Given the description of an element on the screen output the (x, y) to click on. 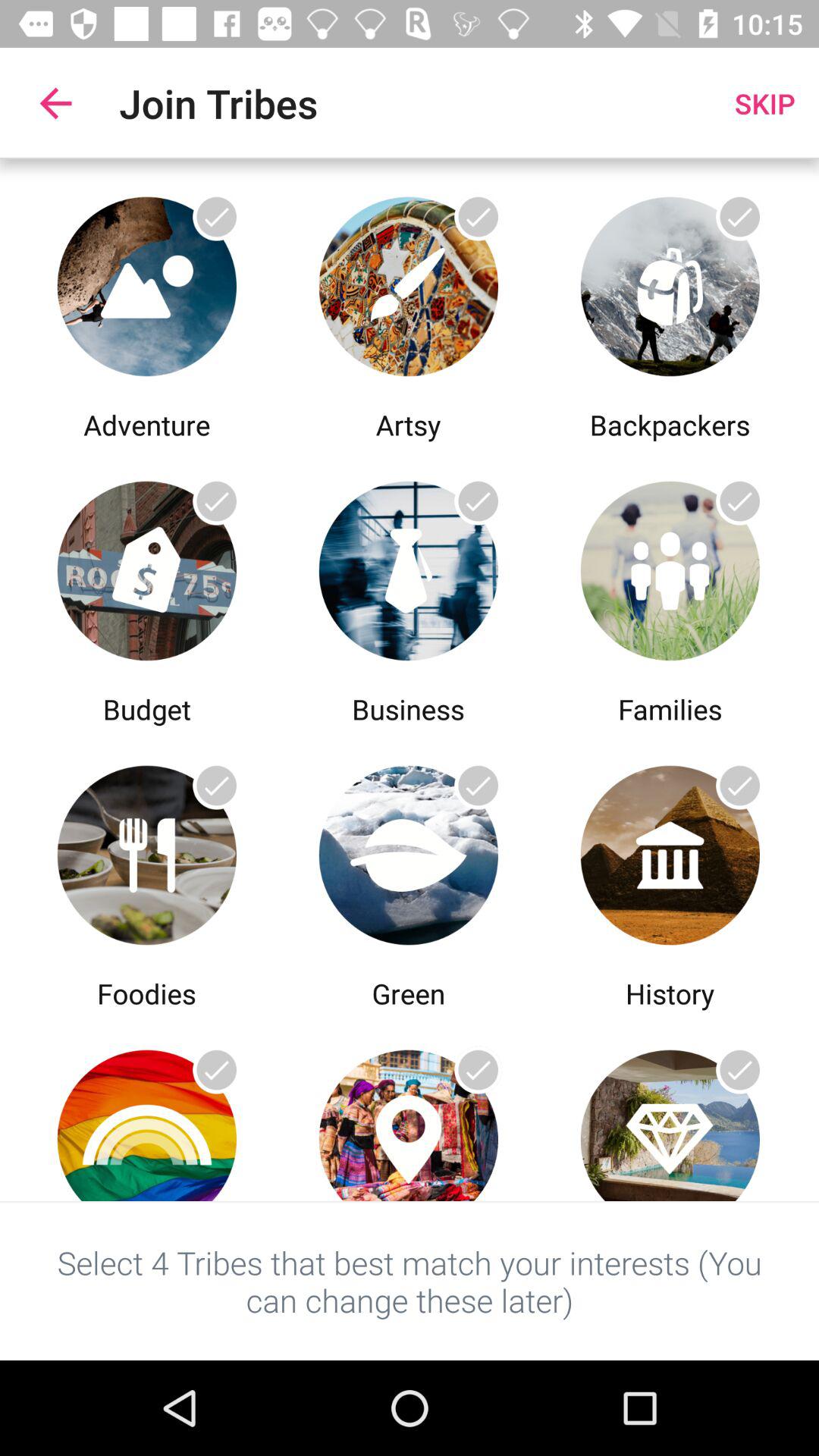
go to the business tribe page (408, 566)
